Given the description of an element on the screen output the (x, y) to click on. 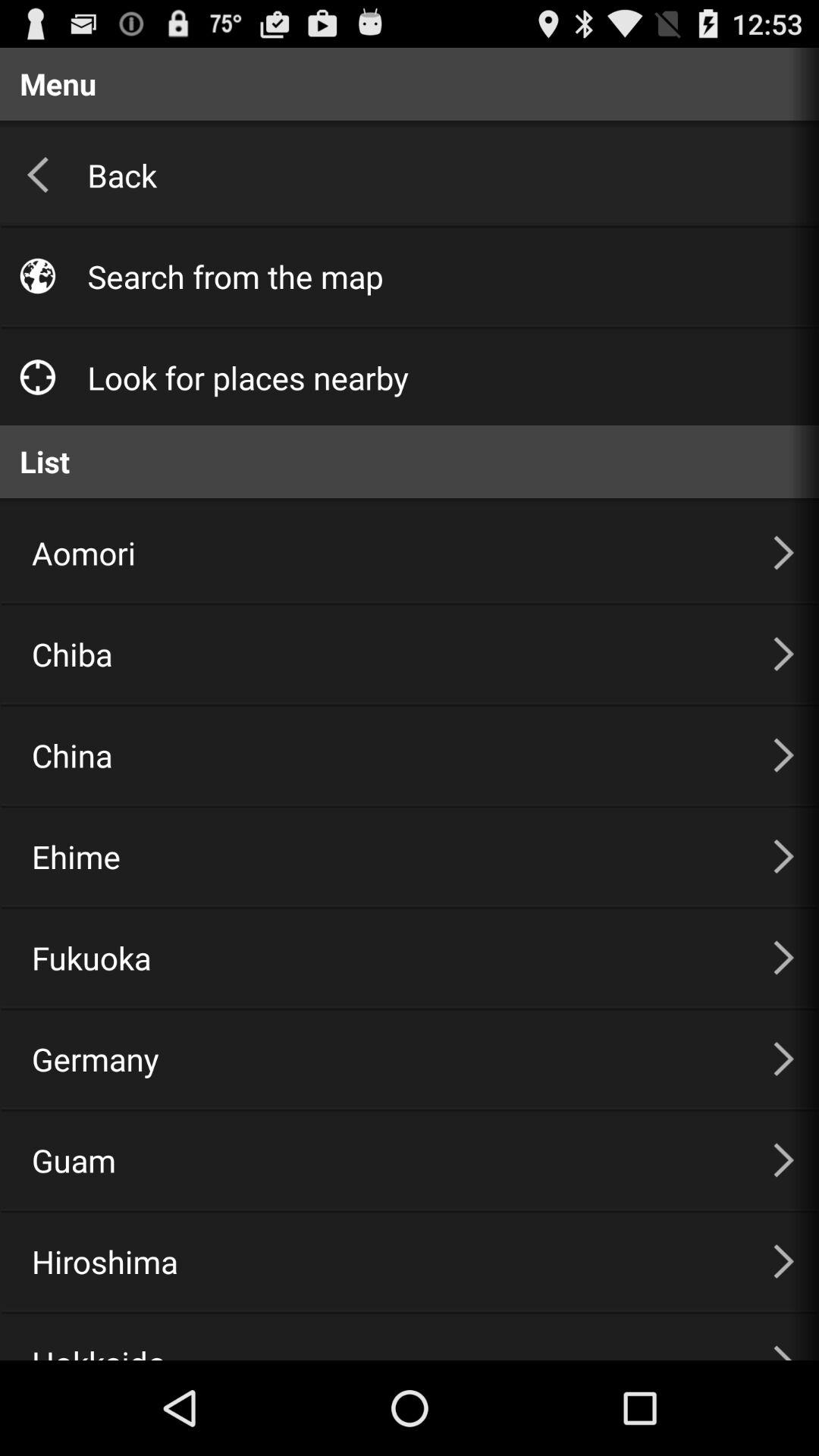
choose china item (384, 755)
